Given the description of an element on the screen output the (x, y) to click on. 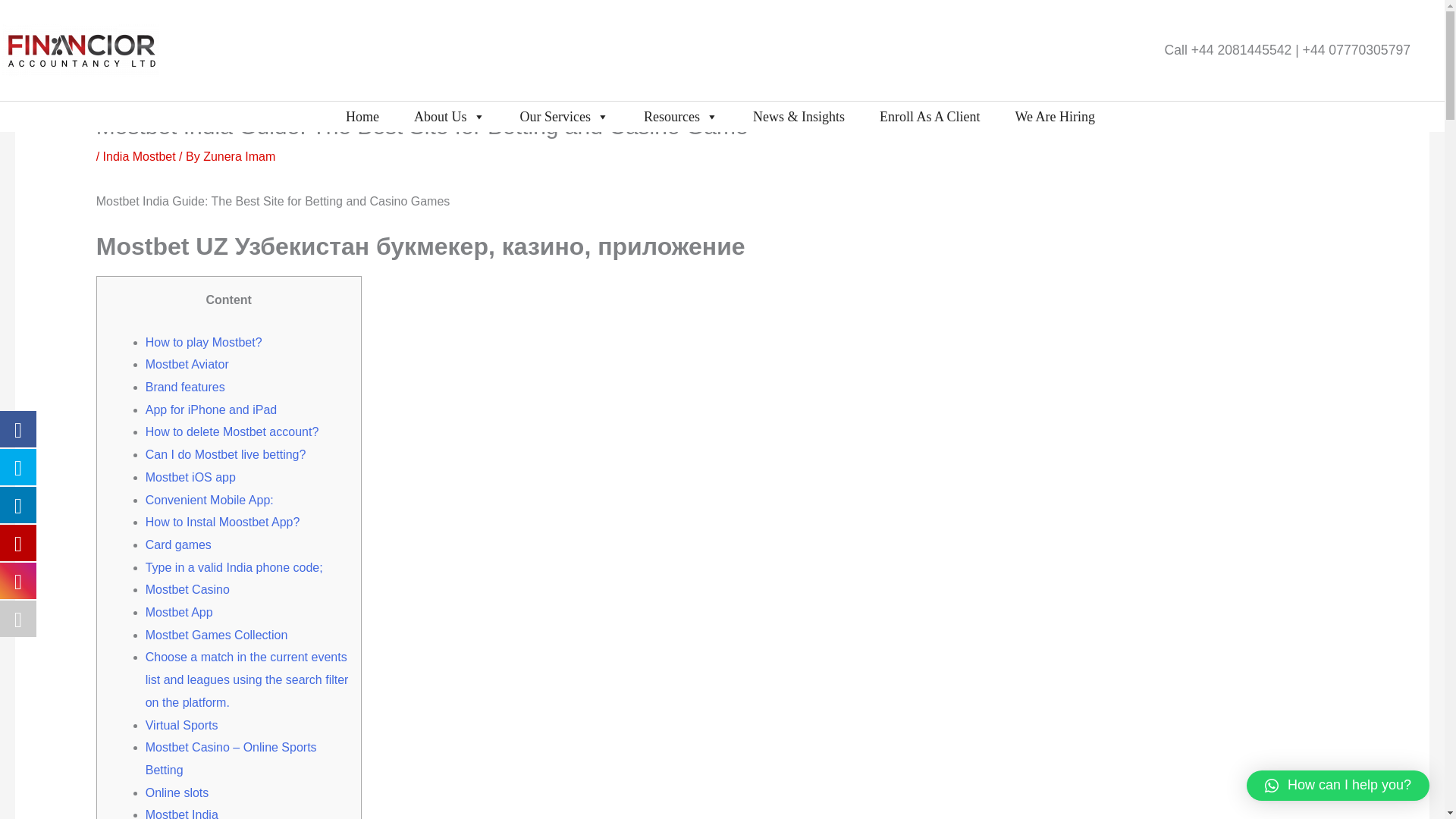
Our Services (564, 116)
Type in a valid India phone code; (234, 567)
Convenient Mobile App: (209, 499)
Enroll As A Client (929, 116)
Can I do Mostbet live betting? (225, 454)
About Us (449, 116)
Zunera Imam (239, 155)
How to Instal Moostbet App? (222, 521)
Card games (178, 544)
We Are Hiring (1053, 116)
Resources (680, 116)
Brand features (185, 386)
Mostbet Games Collection (216, 634)
Home (362, 116)
India Mostbet (139, 155)
